Given the description of an element on the screen output the (x, y) to click on. 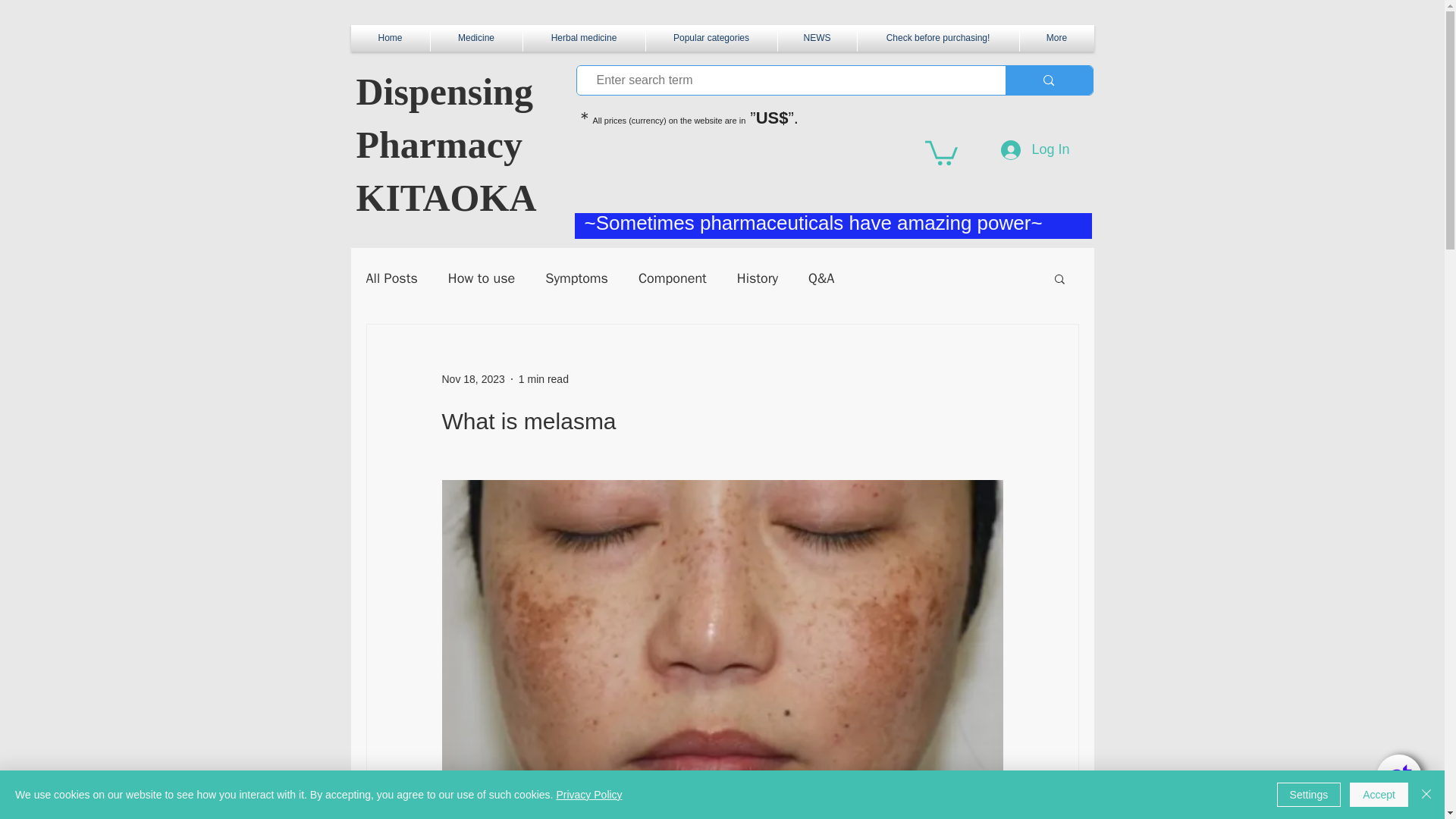
1 min read (543, 378)
Nov 18, 2023 (472, 378)
Home (389, 38)
